Given the description of an element on the screen output the (x, y) to click on. 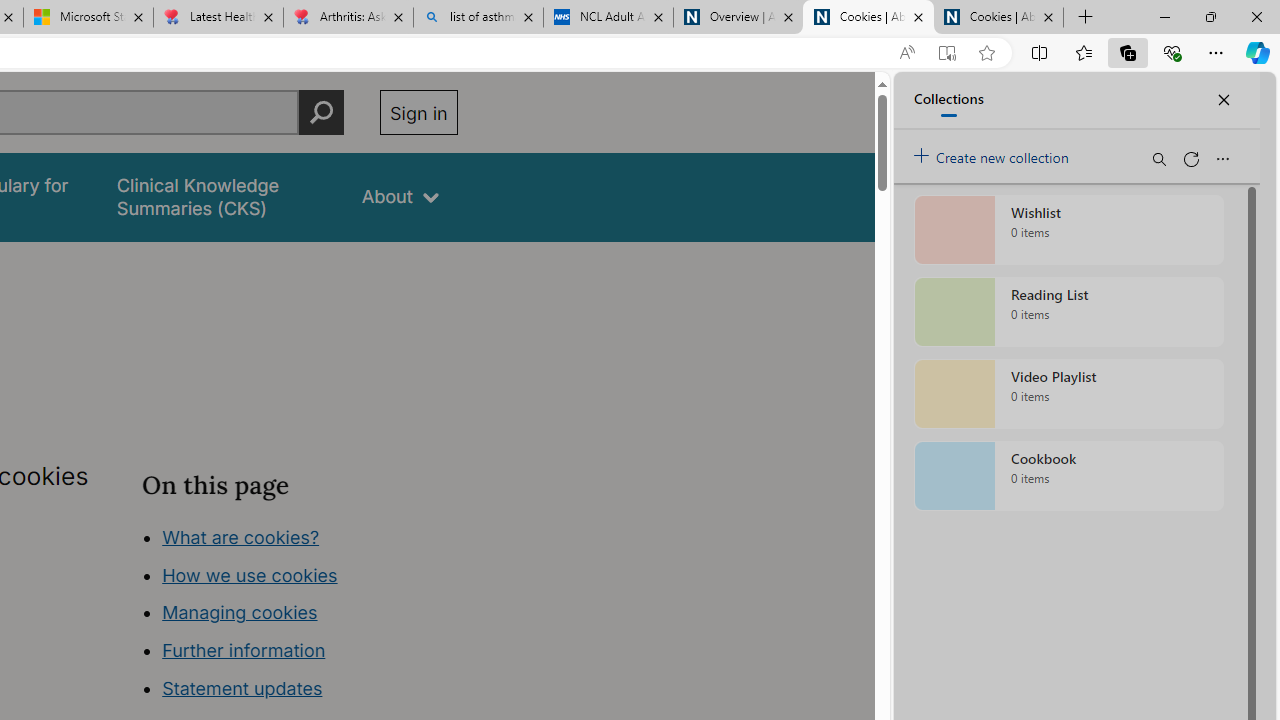
About (400, 196)
Managing cookies (239, 612)
NCL Adult Asthma Inhaler Choice Guideline (608, 17)
Arthritis: Ask Health Professionals (348, 17)
false (221, 196)
Sign in (418, 112)
Perform search (321, 112)
About (400, 196)
list of asthma inhalers uk - Search (477, 17)
